Given the description of an element on the screen output the (x, y) to click on. 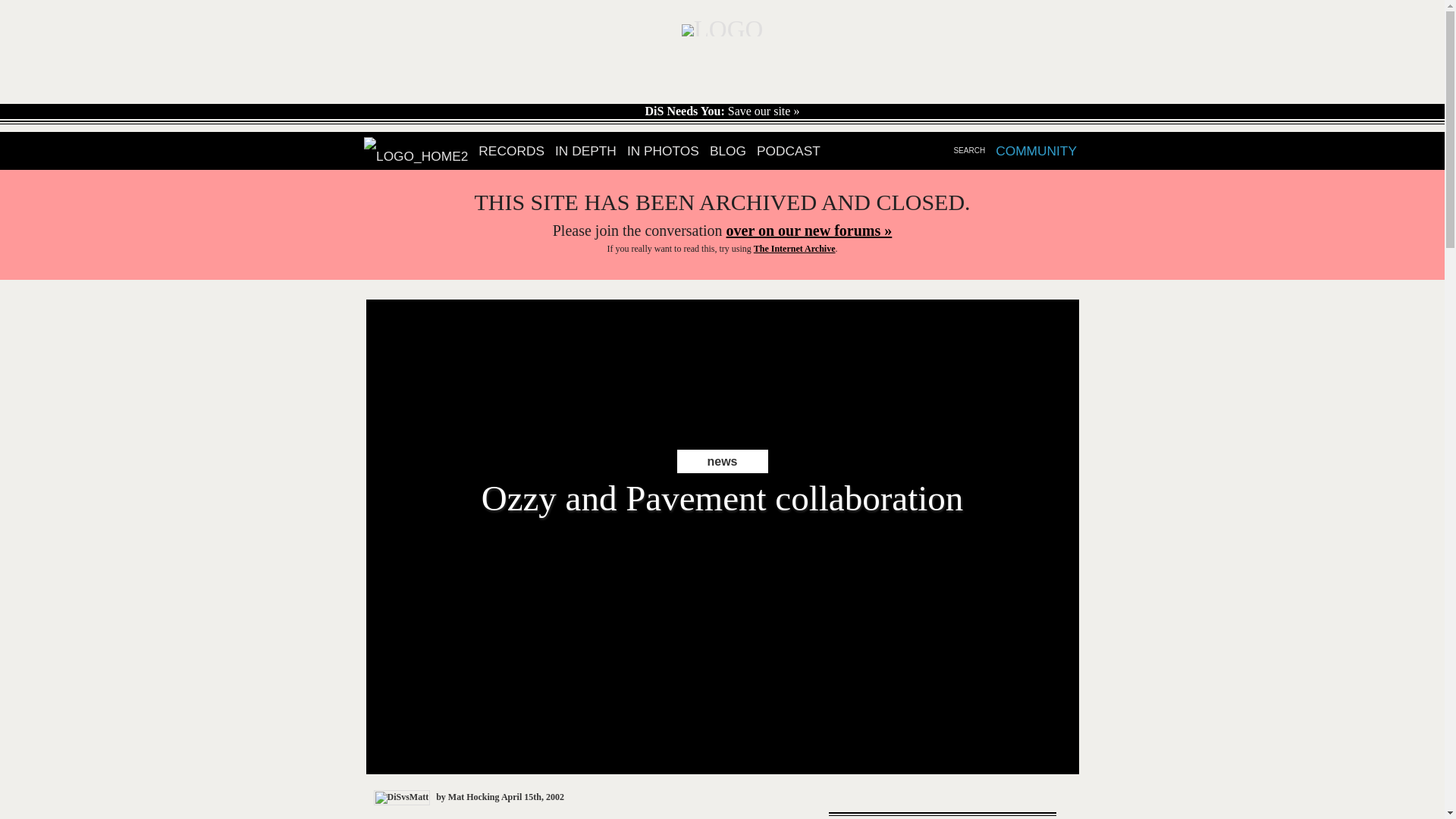
PODCAST (789, 150)
RECORDS (511, 150)
IN DEPTH (584, 150)
BLOG (727, 150)
COMMUNITY (1036, 150)
by Mat Hocking (721, 482)
The Internet Archive (436, 796)
IN PHOTOS (794, 248)
